Given the description of an element on the screen output the (x, y) to click on. 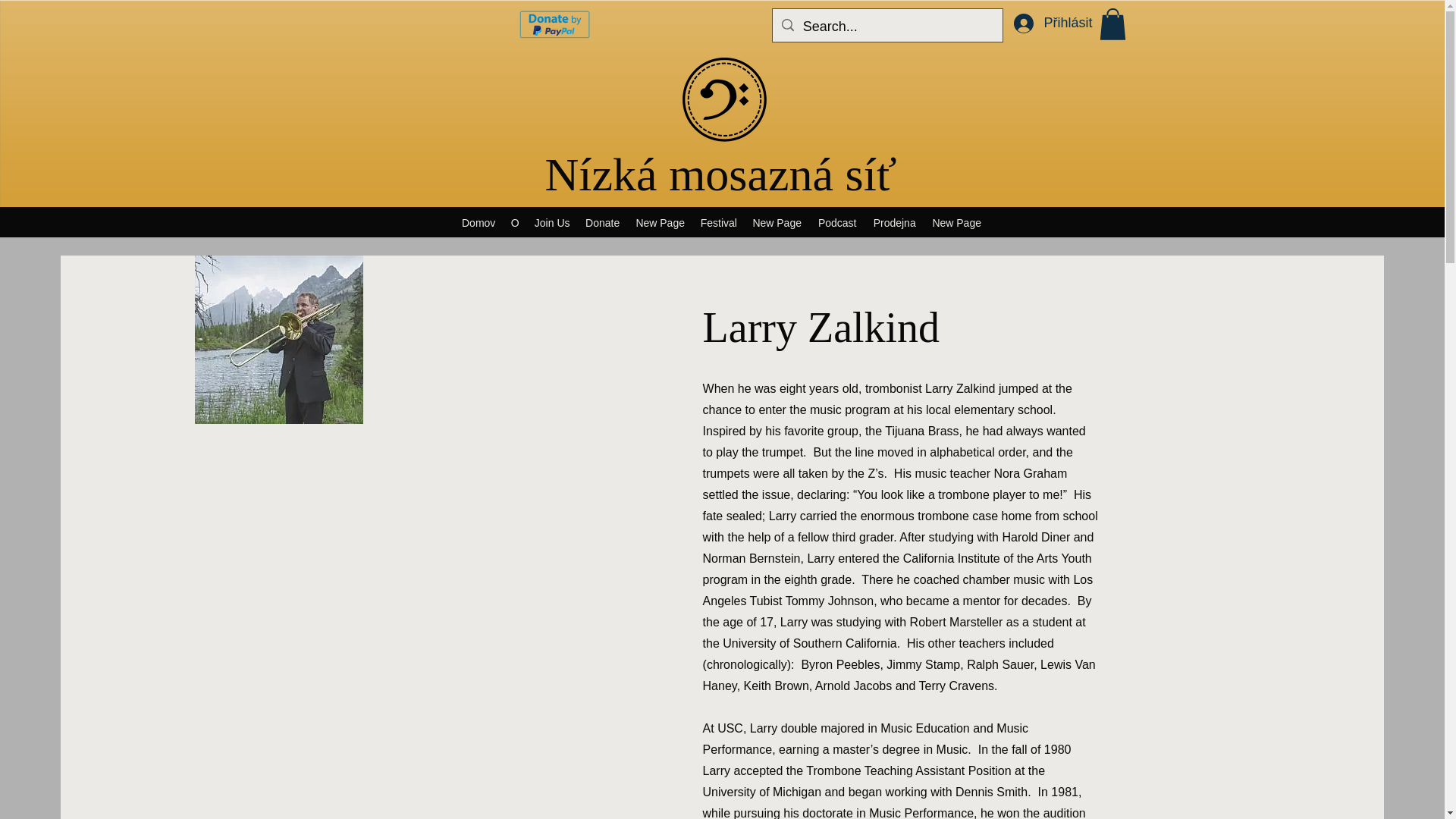
O (515, 222)
Festival (718, 222)
New Page (660, 222)
Join Us (552, 222)
Podcast (836, 222)
Donate (602, 222)
New Page (776, 222)
Prodejna (894, 222)
Domov (478, 222)
New Page (957, 222)
